Given the description of an element on the screen output the (x, y) to click on. 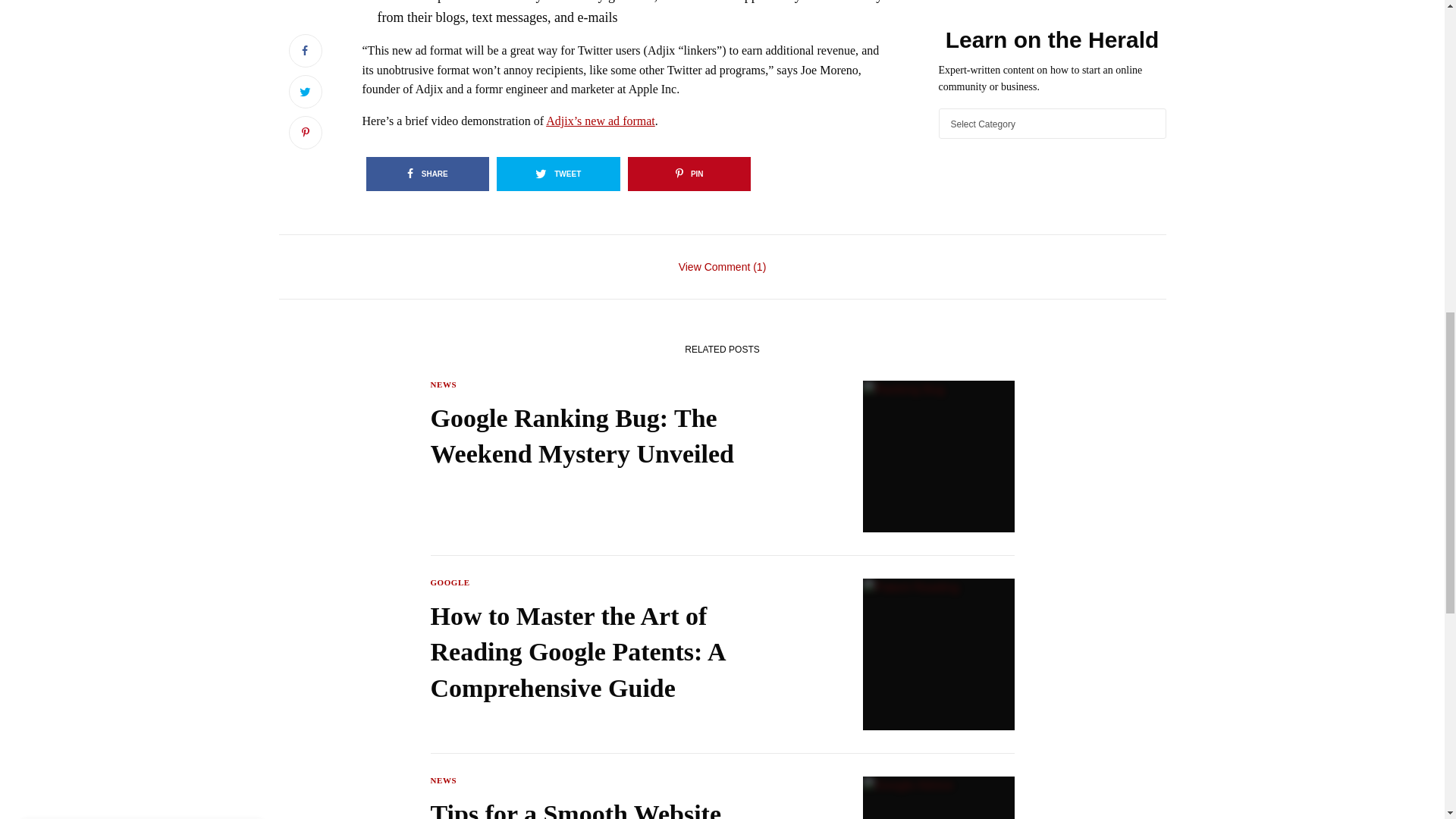
Tips for a Smooth Website Transition: Avoiding SEO Issues (617, 807)
TWEET (558, 173)
PIN (689, 173)
SHARE (427, 173)
Google Ranking Bug: The Weekend Mystery Unveiled (617, 436)
